Given the description of an element on the screen output the (x, y) to click on. 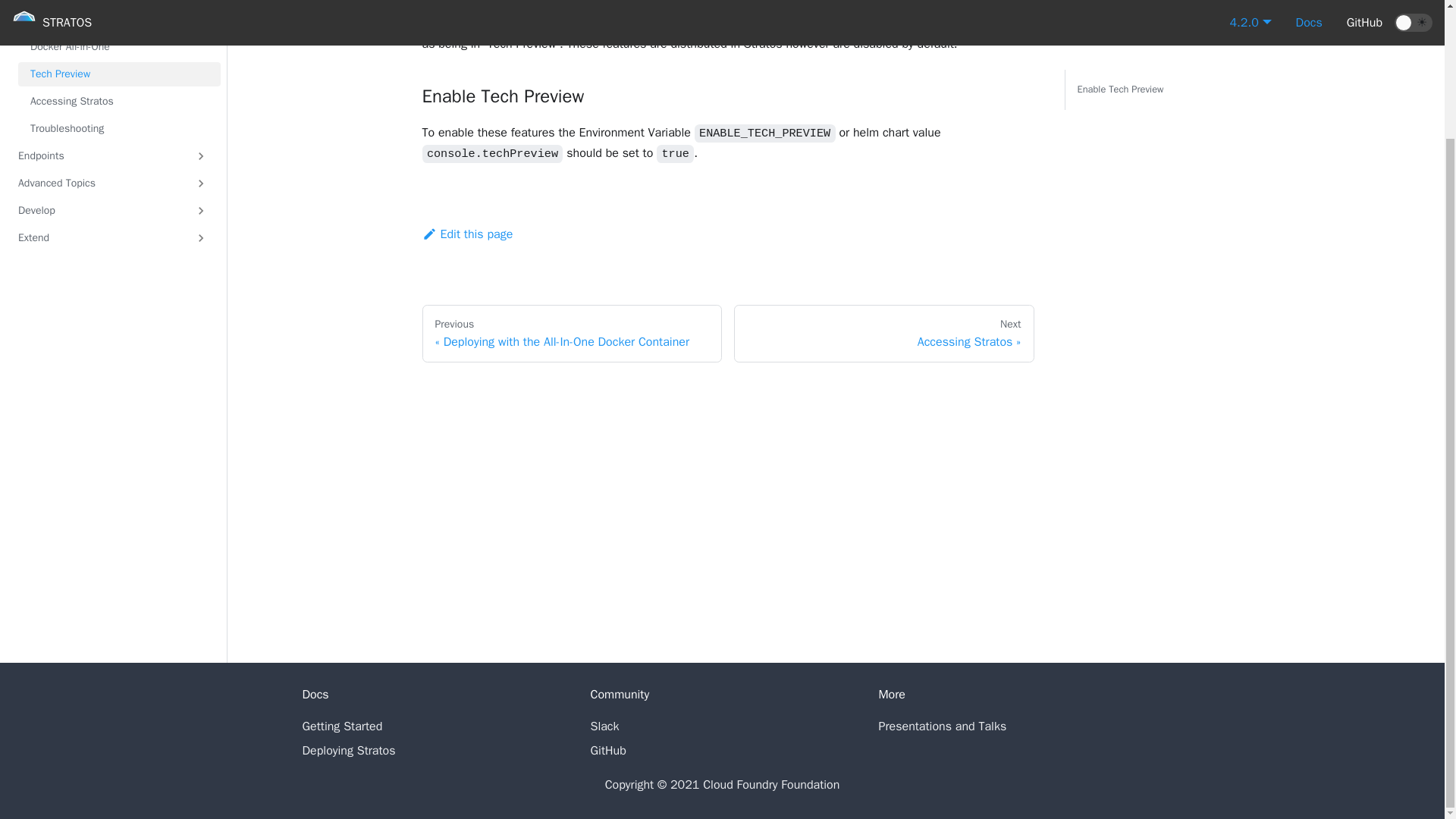
Docker All-in-One (119, 46)
Cloud Foundry (119, 2)
Accessing Stratos (119, 101)
Kubernetes (119, 19)
Tech Preview (119, 74)
